Given the description of an element on the screen output the (x, y) to click on. 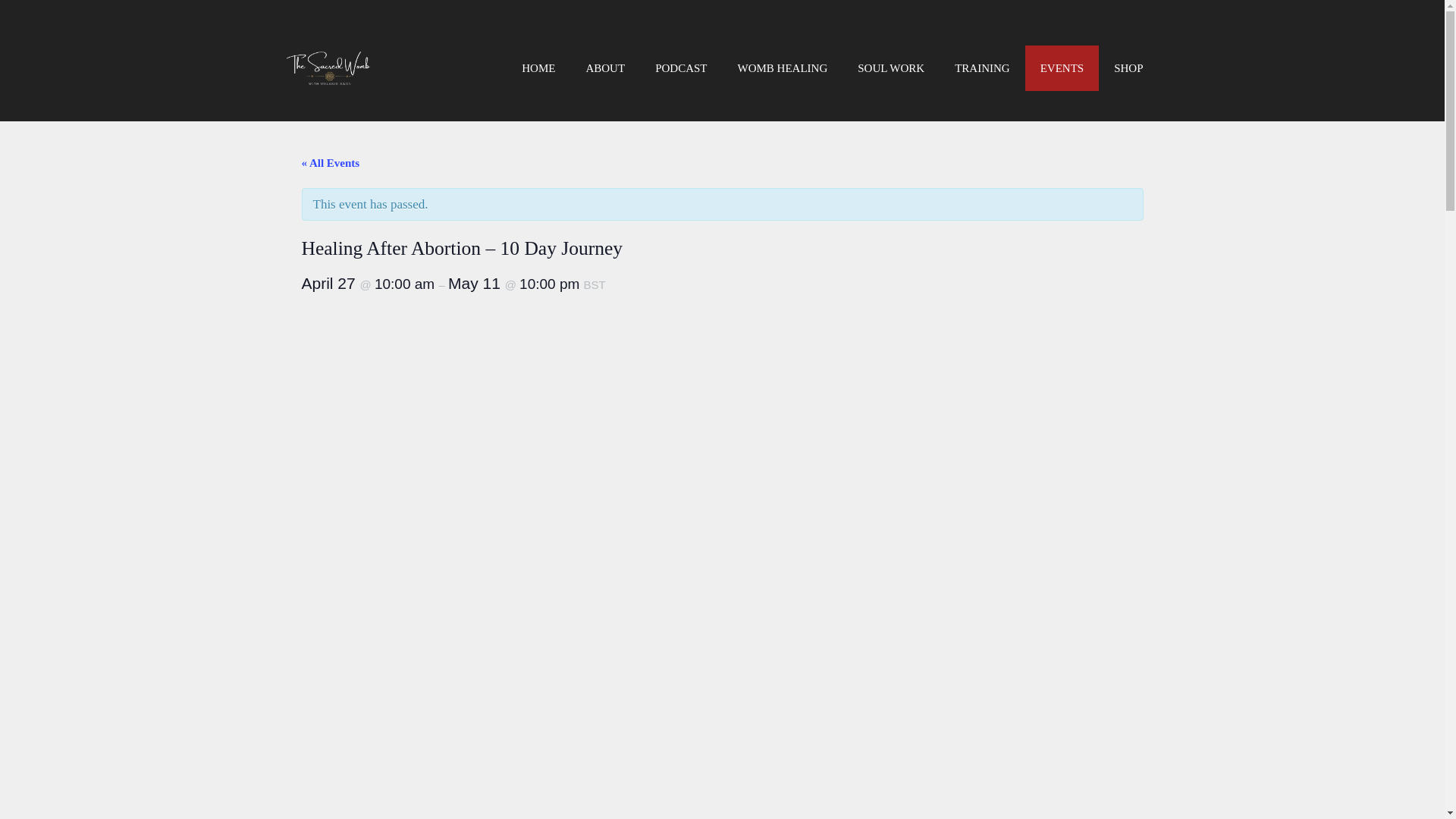
SOUL WORK (891, 67)
WOMB HEALING (782, 67)
HOME (538, 67)
PODCAST (681, 67)
TRAINING (982, 67)
EVENTS (1062, 67)
SHOP (1128, 67)
ABOUT (605, 67)
